Given the description of an element on the screen output the (x, y) to click on. 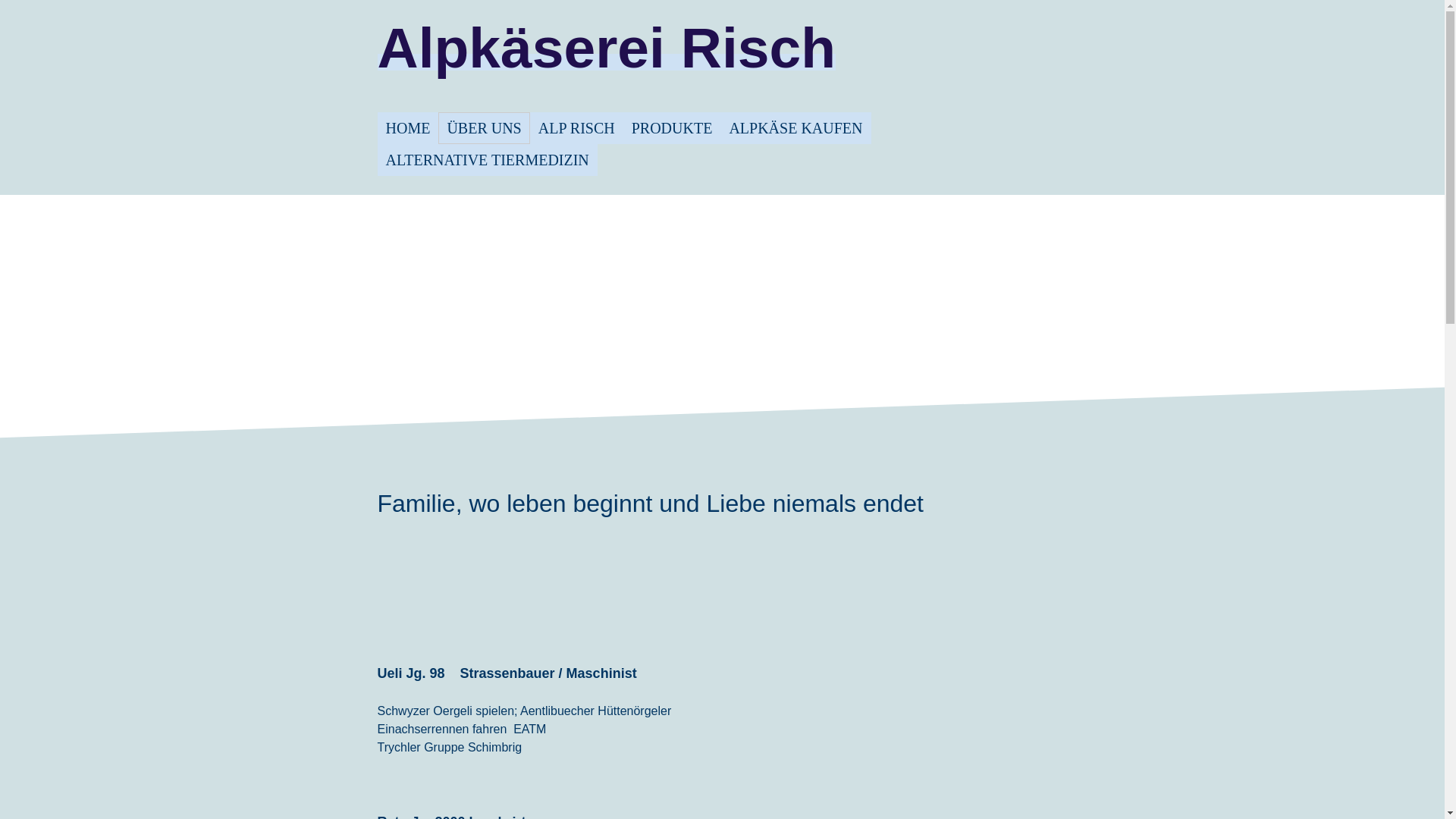
HOME Element type: text (408, 128)
ALTERNATIVE TIERMEDIZIN Element type: text (487, 159)
ALP RISCH Element type: text (576, 128)
PRODUKTE Element type: text (672, 128)
